Given the description of an element on the screen output the (x, y) to click on. 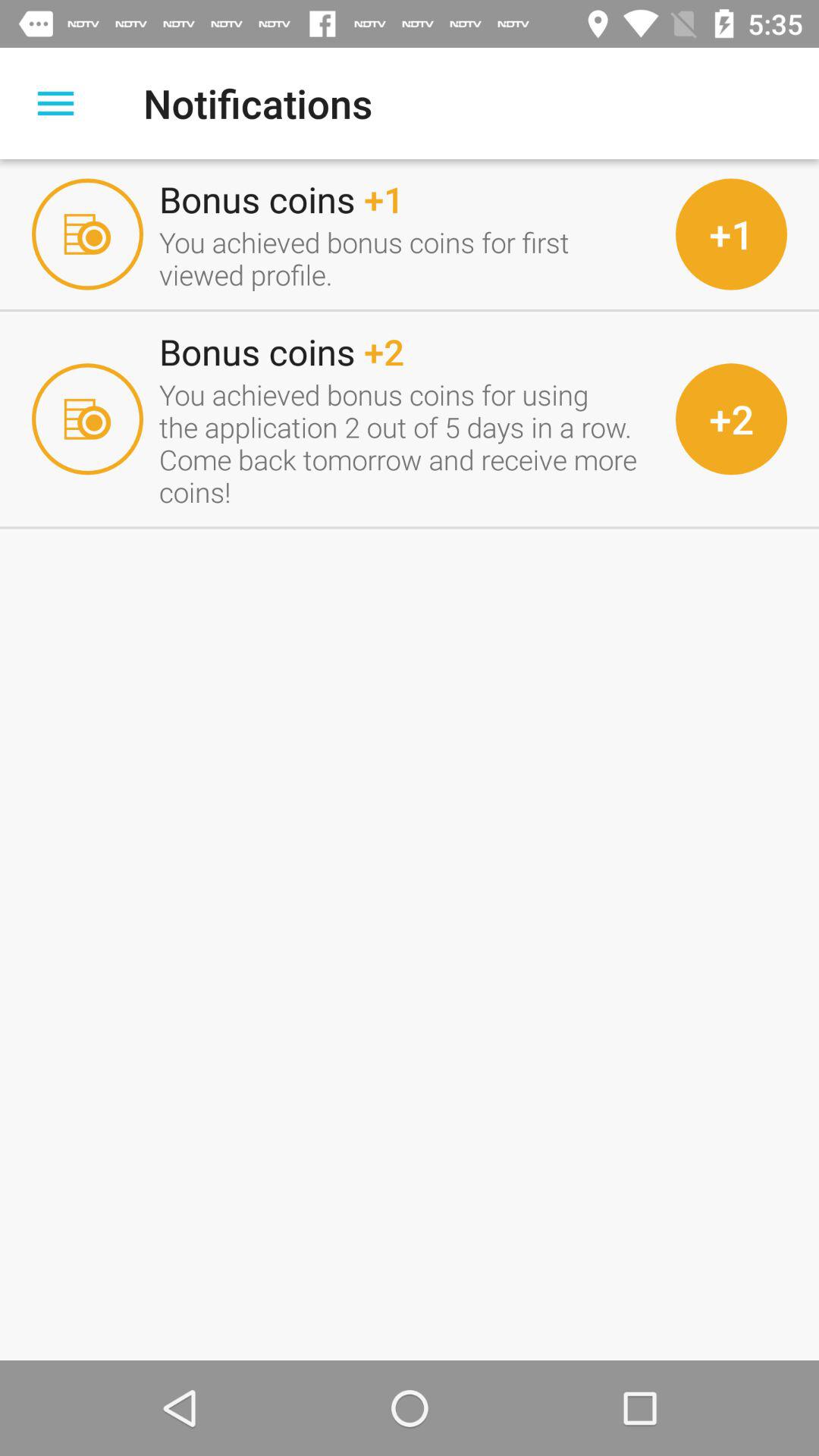
open menu (55, 103)
